Given the description of an element on the screen output the (x, y) to click on. 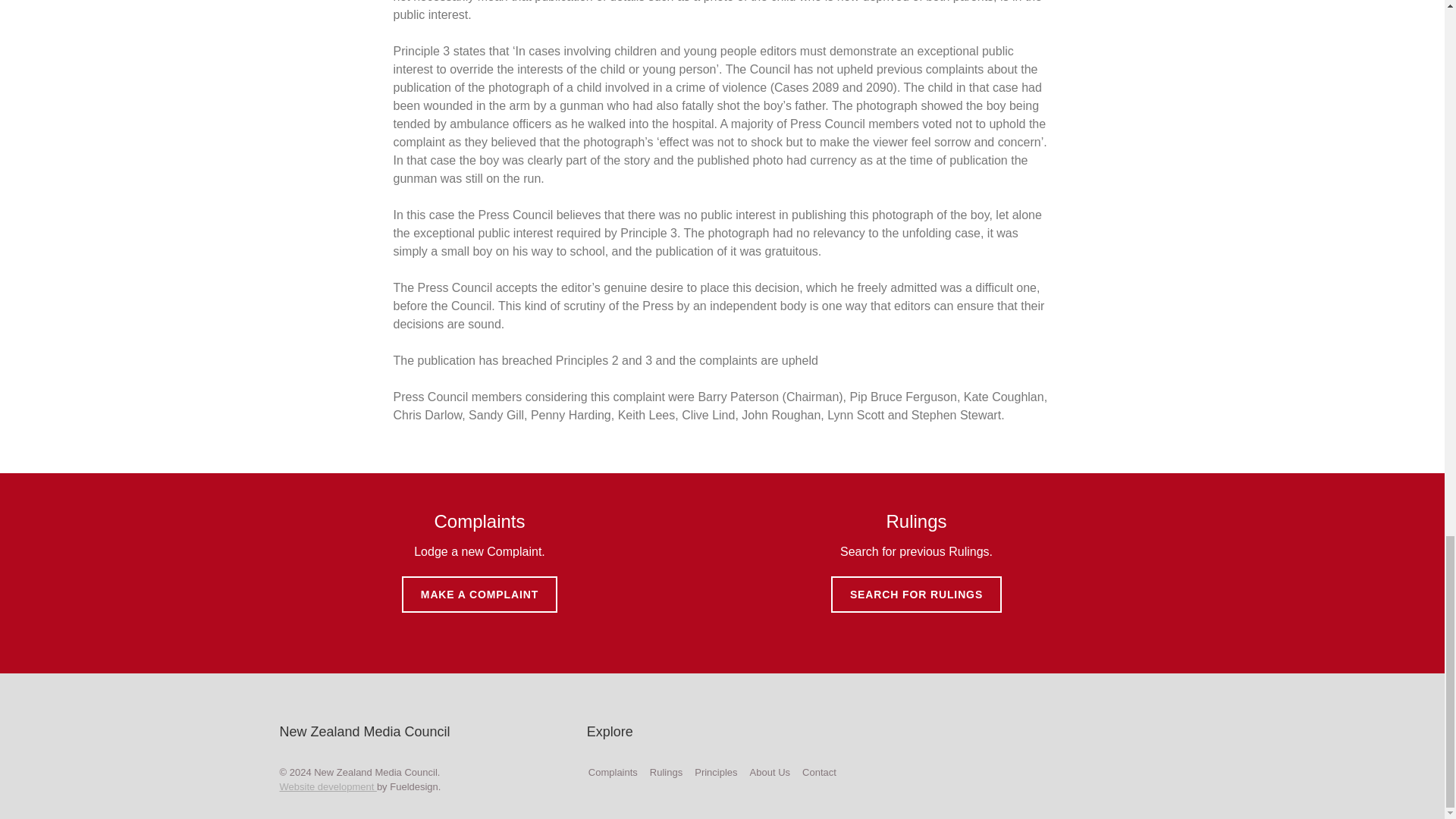
Auckland website design (327, 786)
MAKE A COMPLAINT (479, 594)
Contact Press Council (818, 772)
Complaints (612, 772)
About Press Council (769, 772)
The Standards We Apply (715, 772)
About Us (769, 772)
Lodge a Complaint (612, 772)
Search for Rulings (665, 772)
Contact (818, 772)
SEARCH FOR RULINGS (916, 594)
Principles (715, 772)
Rulings (665, 772)
Website development (327, 786)
